Given the description of an element on the screen output the (x, y) to click on. 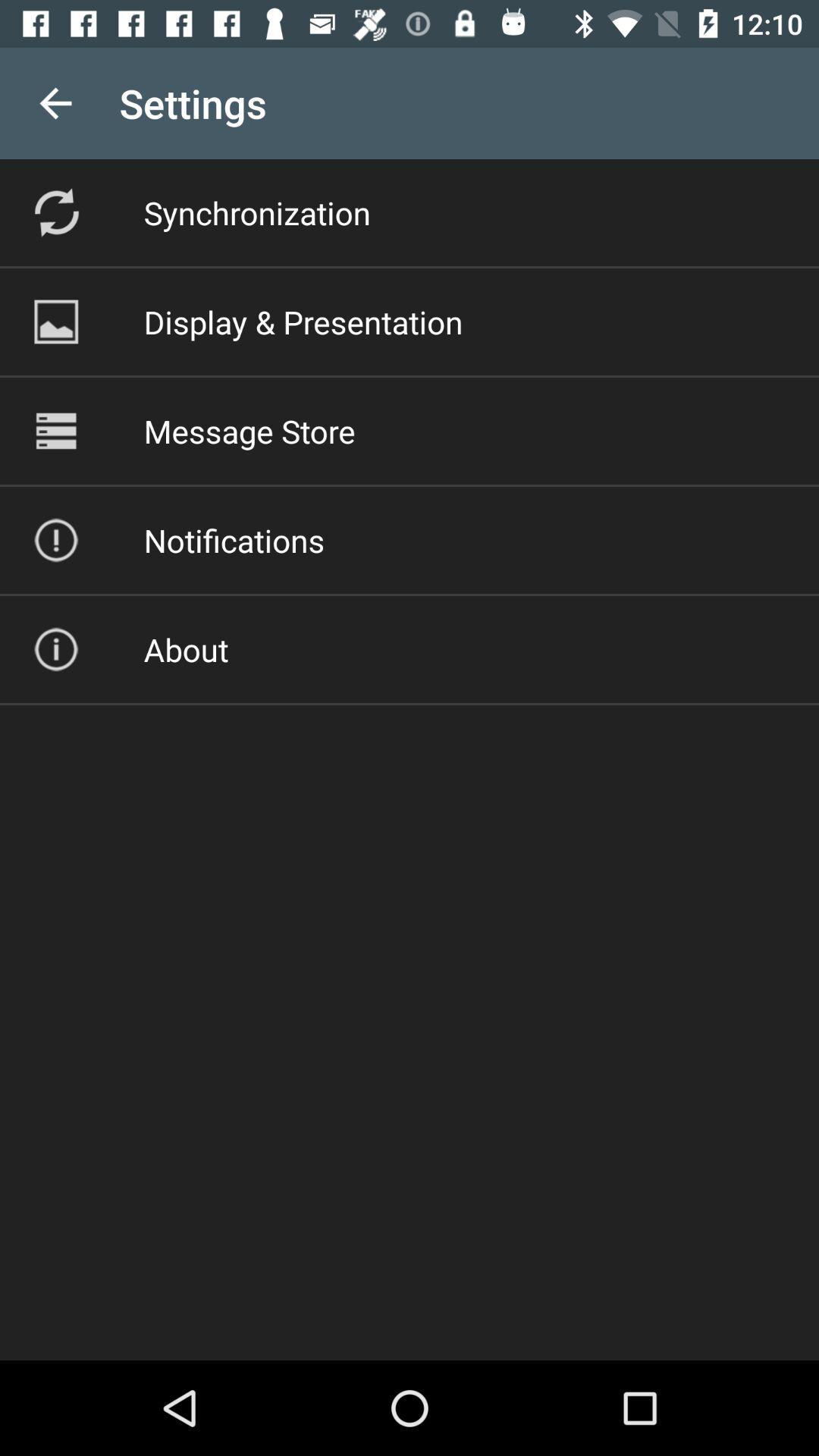
turn off item to the left of the settings app (55, 103)
